Given the description of an element on the screen output the (x, y) to click on. 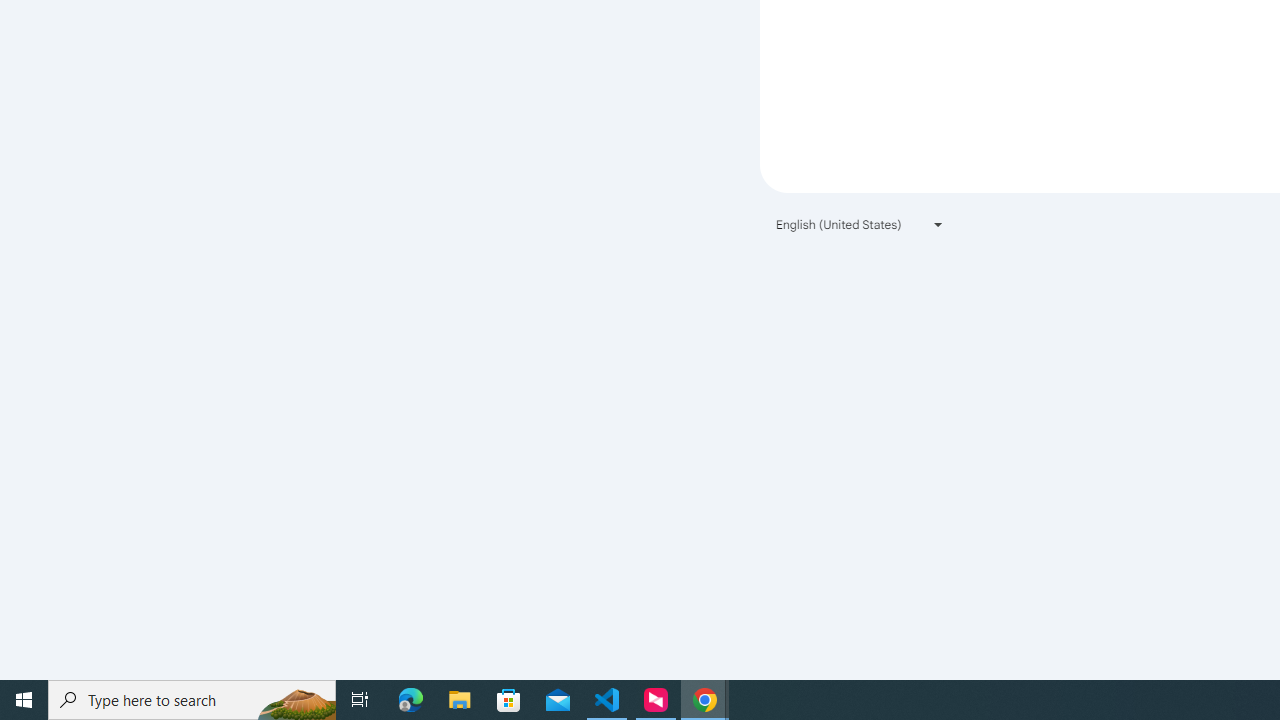
English (United States) (860, 224)
